Given the description of an element on the screen output the (x, y) to click on. 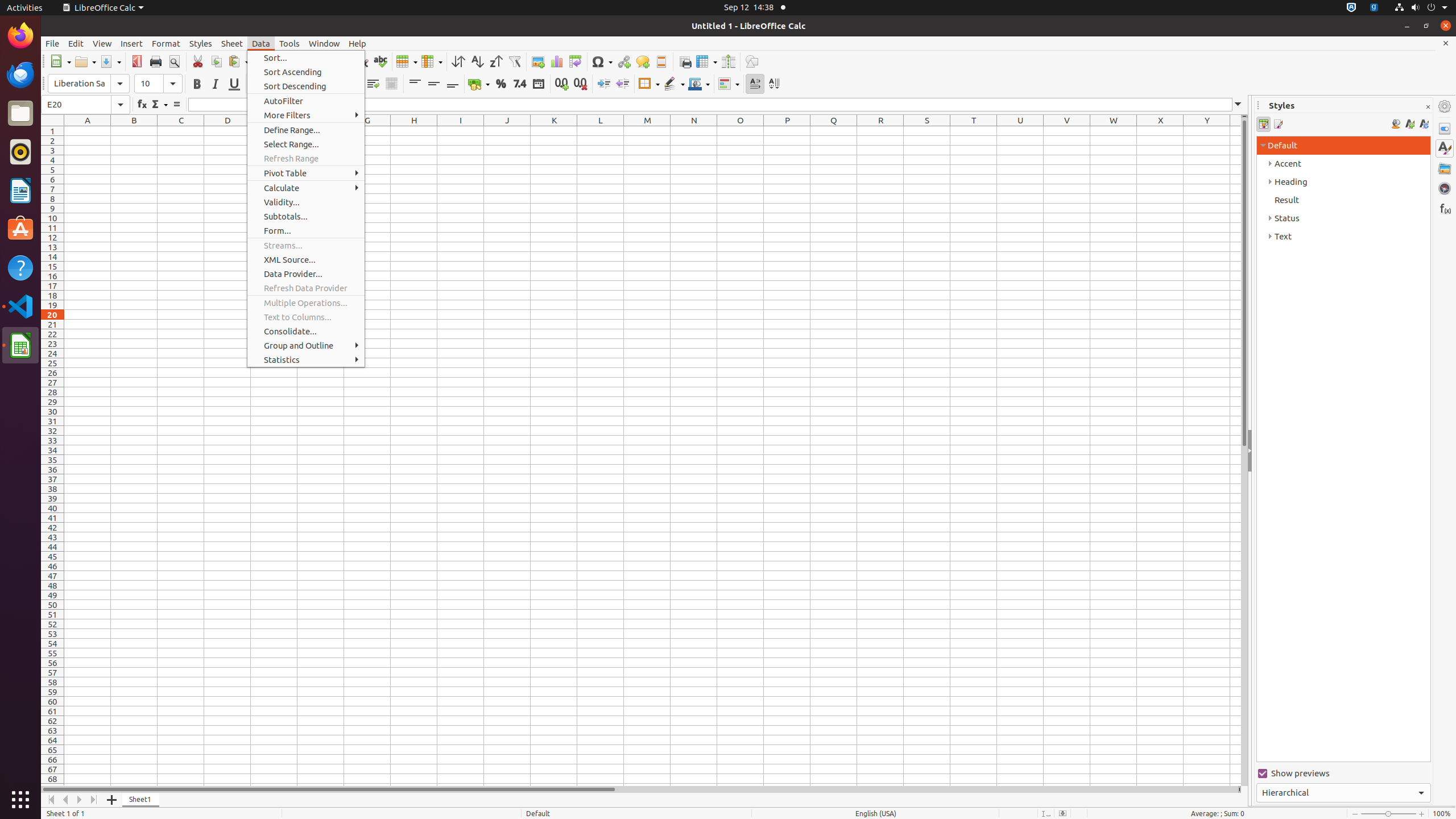
Rhythmbox Element type: push-button (20, 151)
Open Element type: push-button (84, 61)
Insert Element type: menu (131, 43)
Decrease Element type: push-button (622, 83)
M1 Element type: table-cell (646, 130)
